Given the description of an element on the screen output the (x, y) to click on. 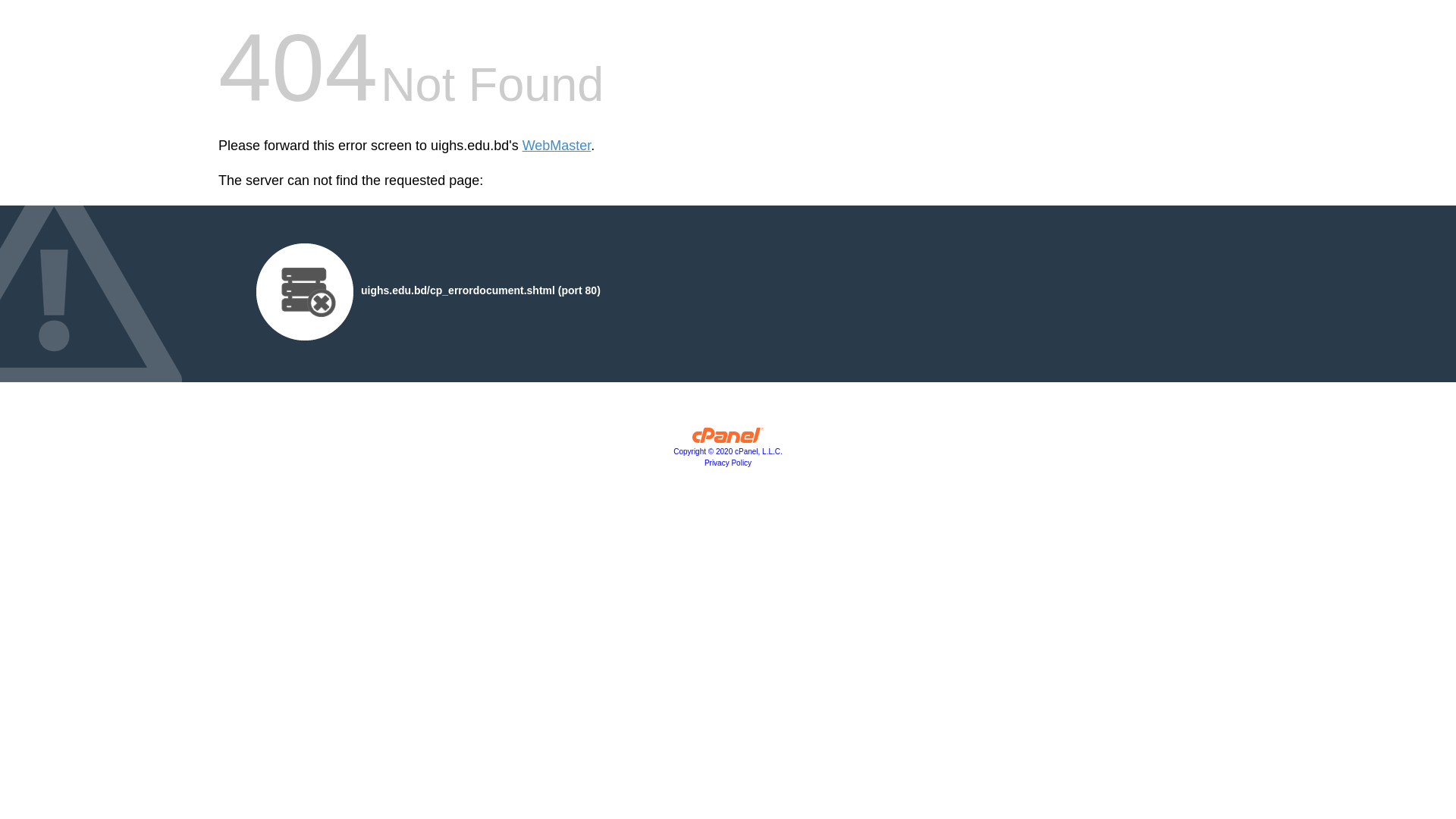
WebMaster Element type: text (556, 145)
Privacy Policy Element type: text (727, 462)
cPanel, Inc. Element type: hover (728, 439)
